Given the description of an element on the screen output the (x, y) to click on. 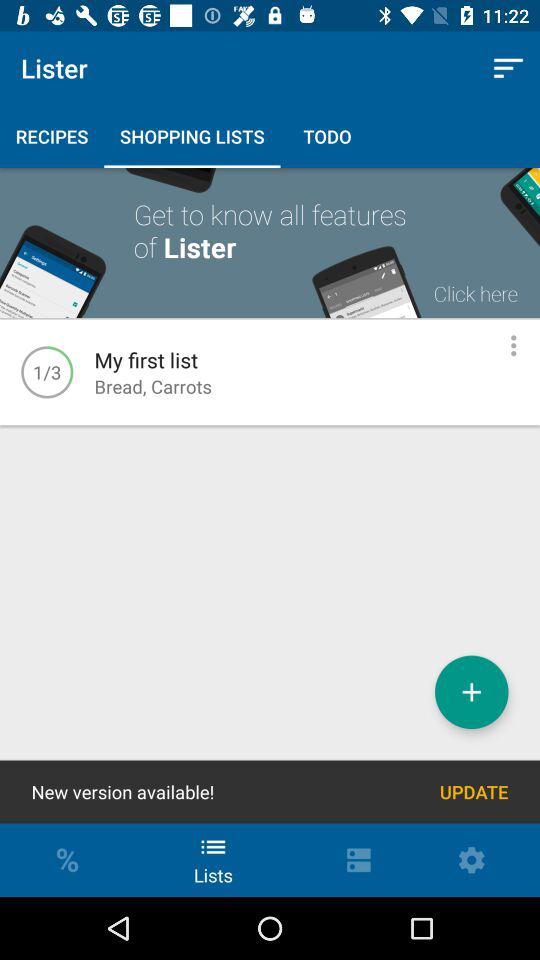
options for (513, 345)
